Given the description of an element on the screen output the (x, y) to click on. 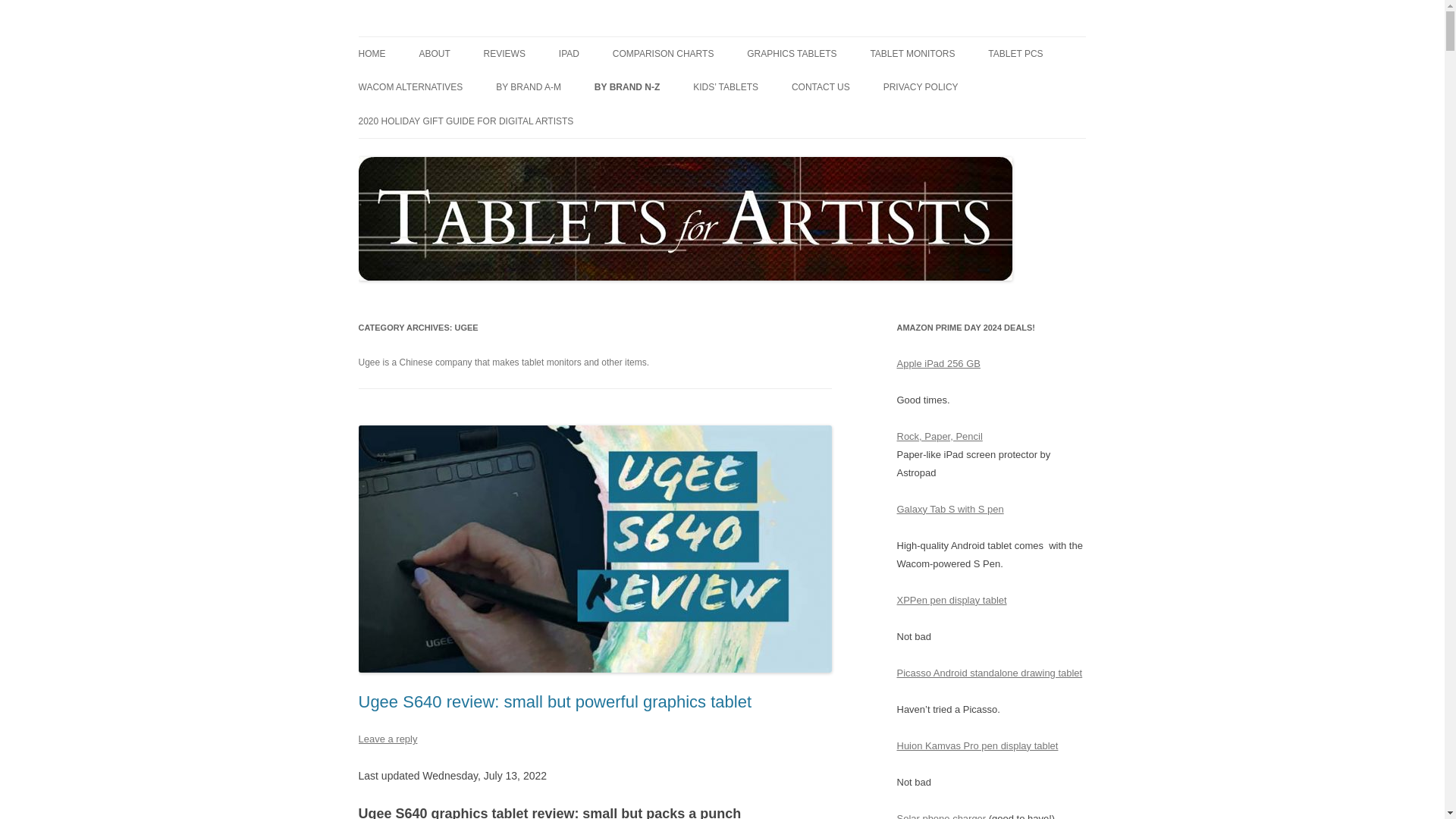
ACER (571, 119)
BY BRAND A-M (528, 87)
BY BRAND N-Z (626, 87)
TABLET MONITORS (912, 53)
IPAD PRO REVIEW: THE PENCIL IS MIGHTIER THAN THE STYLUS (634, 94)
WACOM ALTERNATIVES (410, 87)
GRAPHICS TABLETS (790, 53)
Lower-cost alternatives to the Wacom Cintiq and Intuos. (410, 87)
COMPARISON CHARTS (663, 53)
TABLET PCS (1015, 53)
PNBOO (669, 119)
GRAPHICS TABLETS (558, 85)
REVIEWS (504, 53)
ABOUT (434, 53)
